Given the description of an element on the screen output the (x, y) to click on. 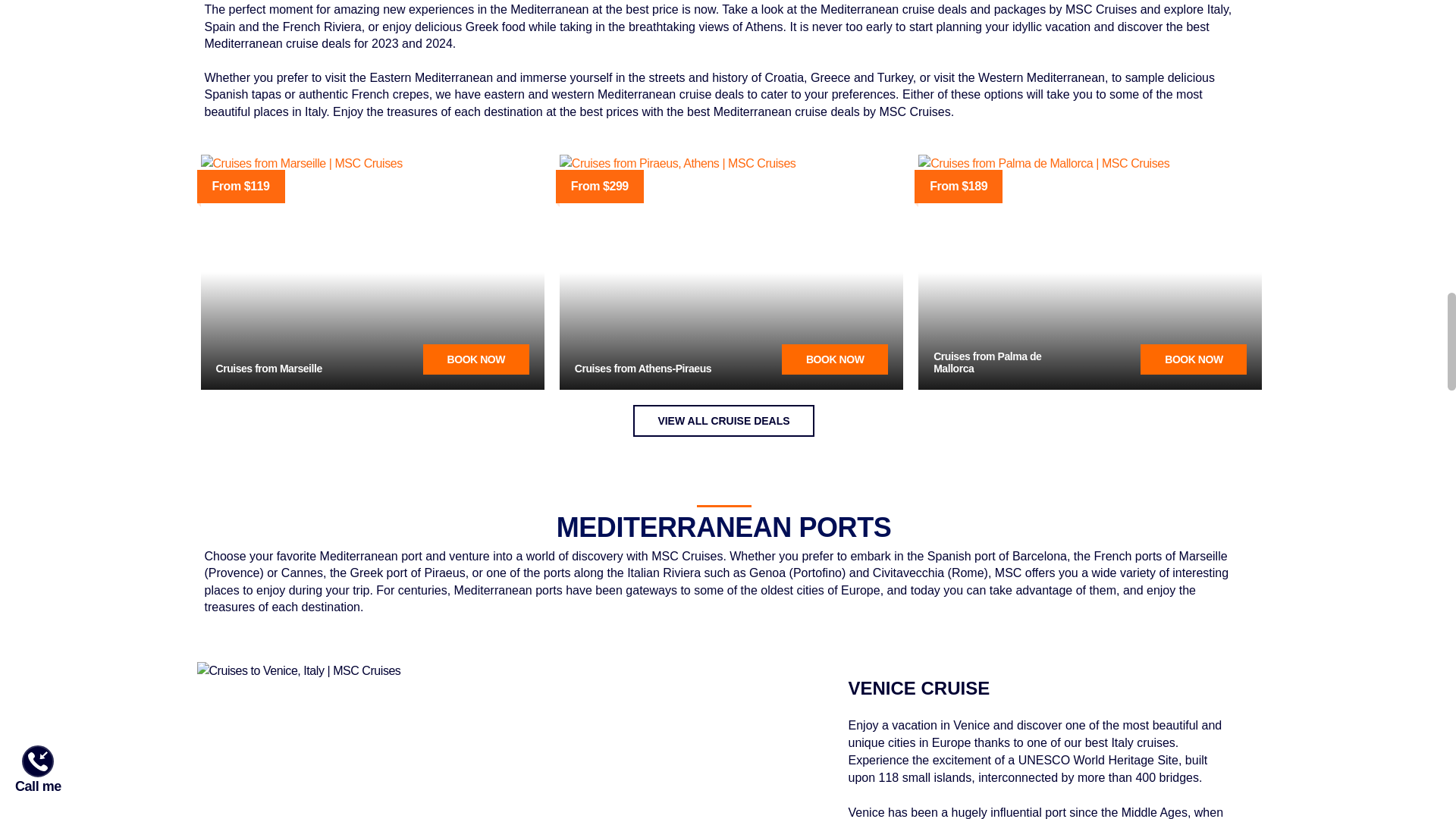
Submit (121, 513)
